Given the description of an element on the screen output the (x, y) to click on. 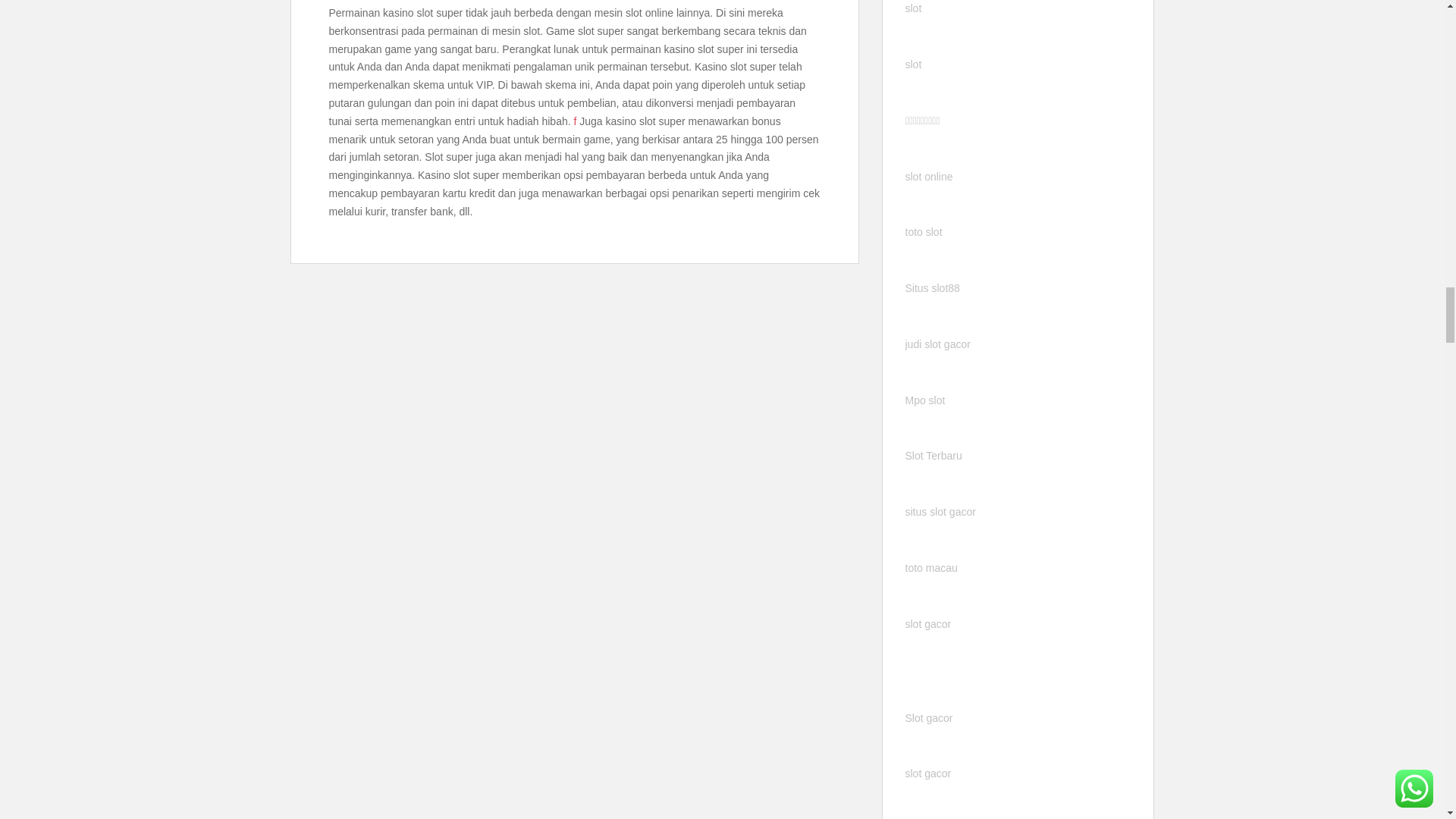
f (574, 121)
